Given the description of an element on the screen output the (x, y) to click on. 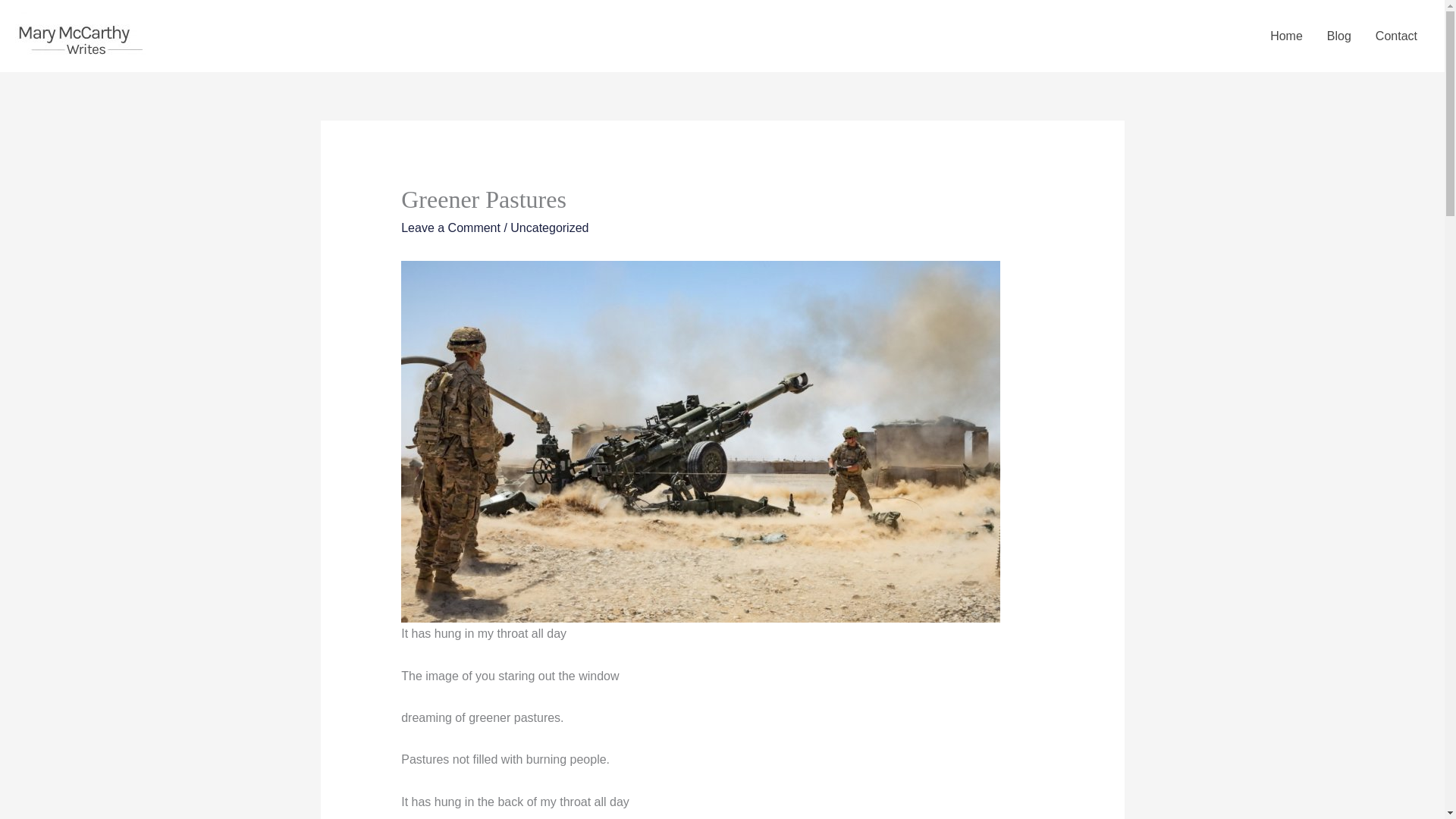
Home (1285, 36)
Uncategorized (549, 227)
Blog (1338, 36)
Contact (1395, 36)
Leave a Comment (450, 227)
